Given the description of an element on the screen output the (x, y) to click on. 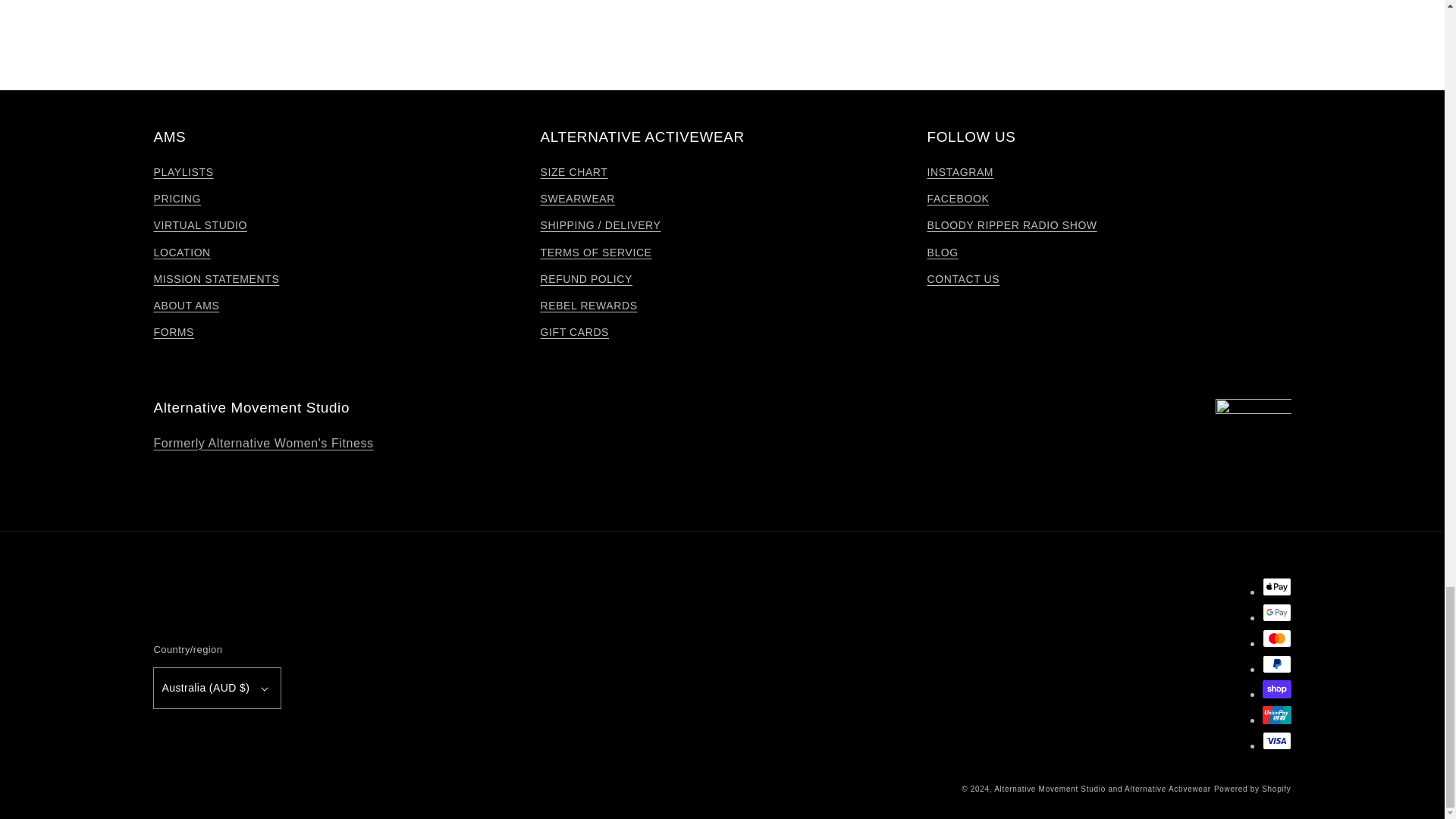
Apple Pay (1276, 587)
Google Pay (1276, 612)
Mastercard (1276, 638)
END OF AN ERA (262, 442)
PayPal (1276, 664)
